Given the description of an element on the screen output the (x, y) to click on. 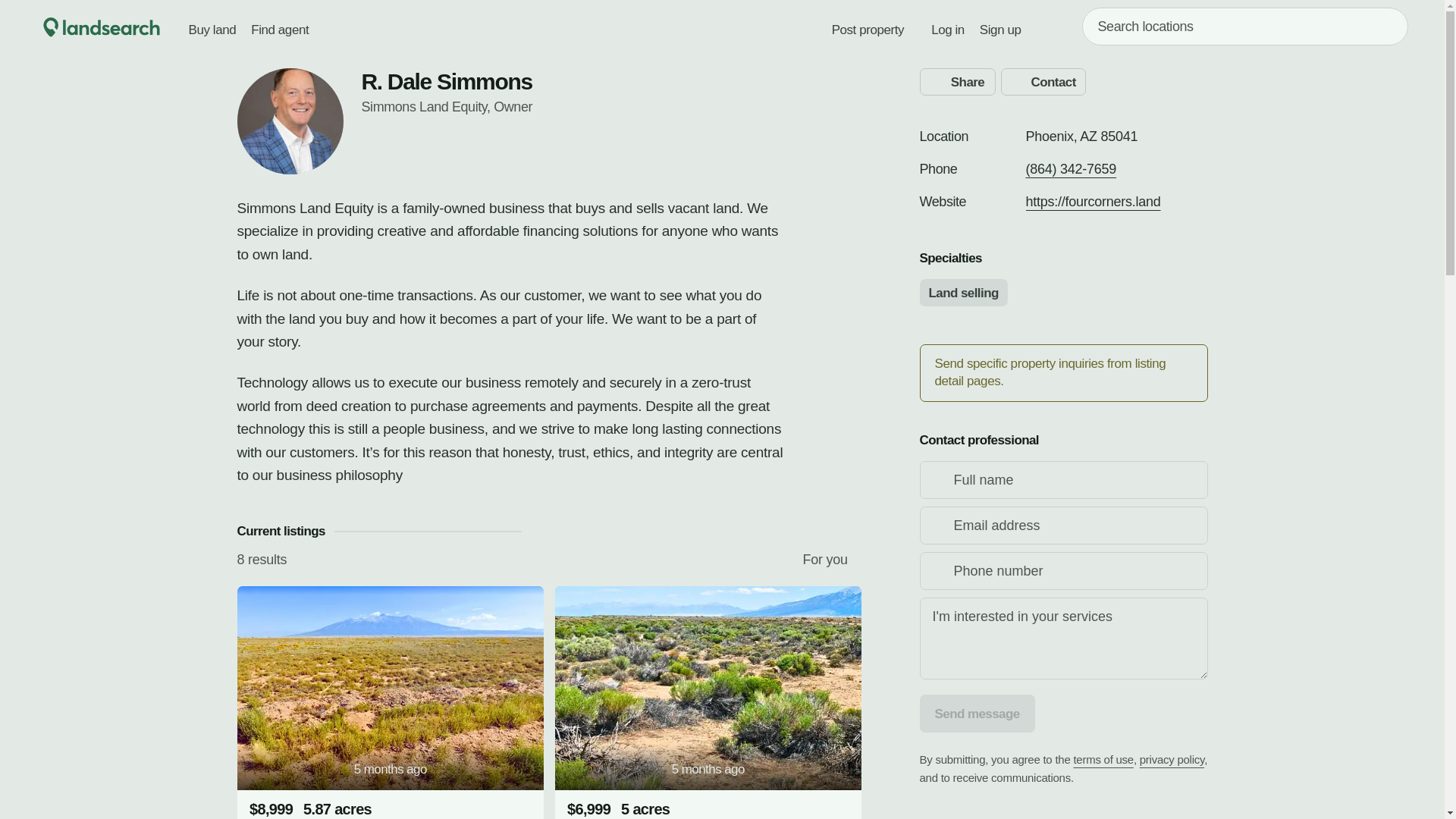
Buy land (211, 26)
Send message (975, 713)
privacy policy (1172, 758)
Find agent (279, 26)
Post property (868, 26)
Log in (947, 26)
terms of use (1103, 758)
Land selling (962, 292)
Arizona (1088, 136)
Sign up (1000, 26)
